Given the description of an element on the screen output the (x, y) to click on. 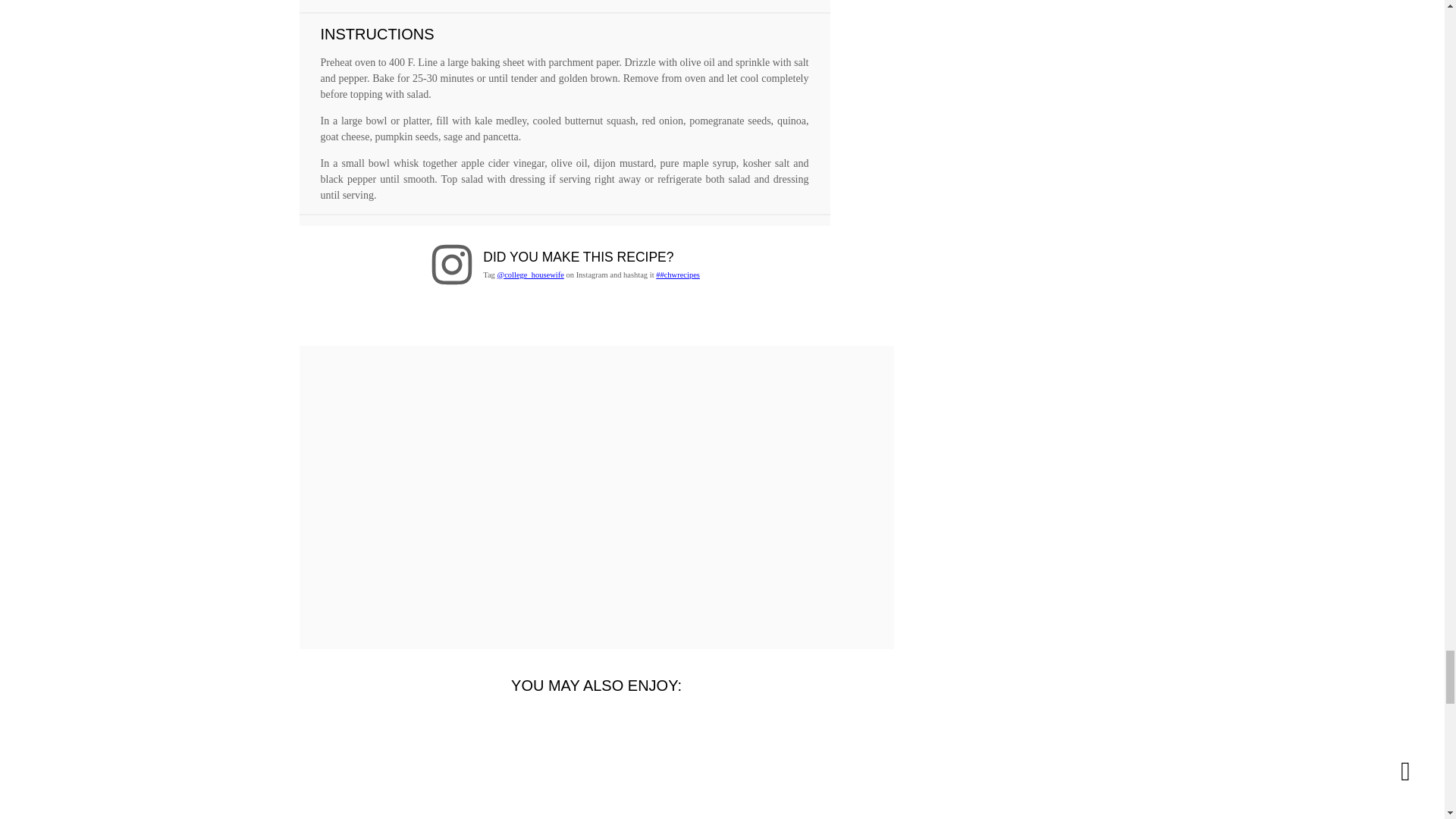
Air Fryer Lemon Pepper Salmon (669, 760)
Cheese Fries from Mean Girls (372, 760)
Beef Bourguignon Recipe from Julie and Julia (520, 760)
